Given the description of an element on the screen output the (x, y) to click on. 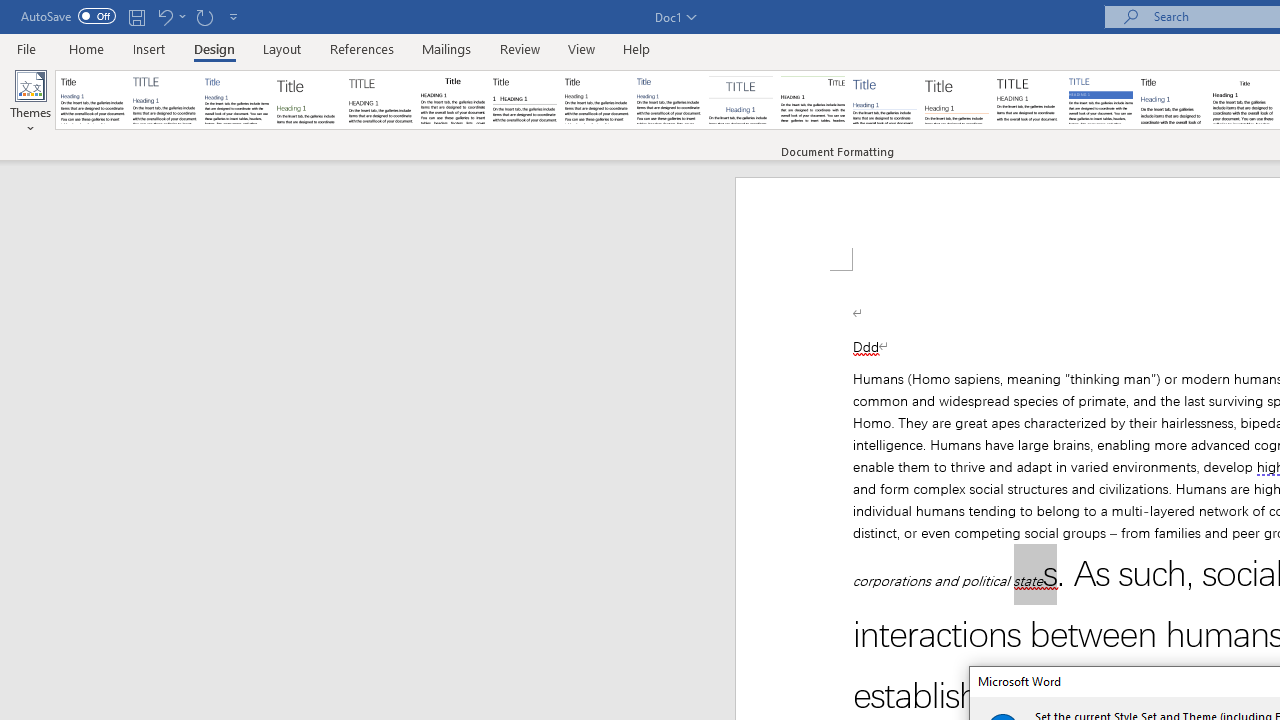
Basic (Elegant) (164, 100)
Black & White (Capitalized) (381, 100)
Word (1172, 100)
Shaded (1100, 100)
Casual (669, 100)
Centered (740, 100)
Basic (Simple) (236, 100)
Lines (Simple) (884, 100)
